Given the description of an element on the screen output the (x, y) to click on. 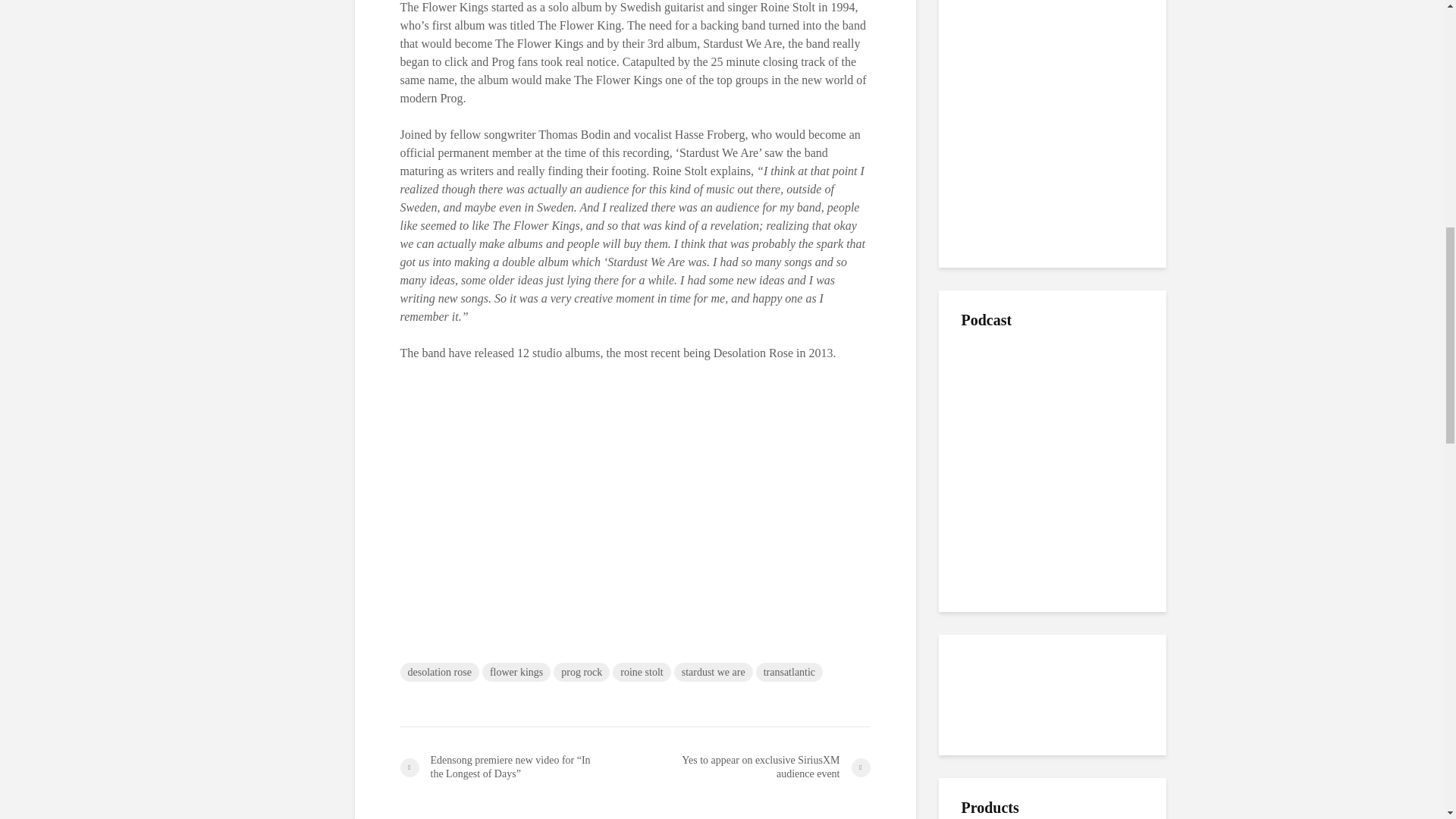
flower kings (515, 671)
stardust we are (713, 671)
roine stolt (640, 671)
prog rock (581, 671)
desolation rose (439, 671)
